Given the description of an element on the screen output the (x, y) to click on. 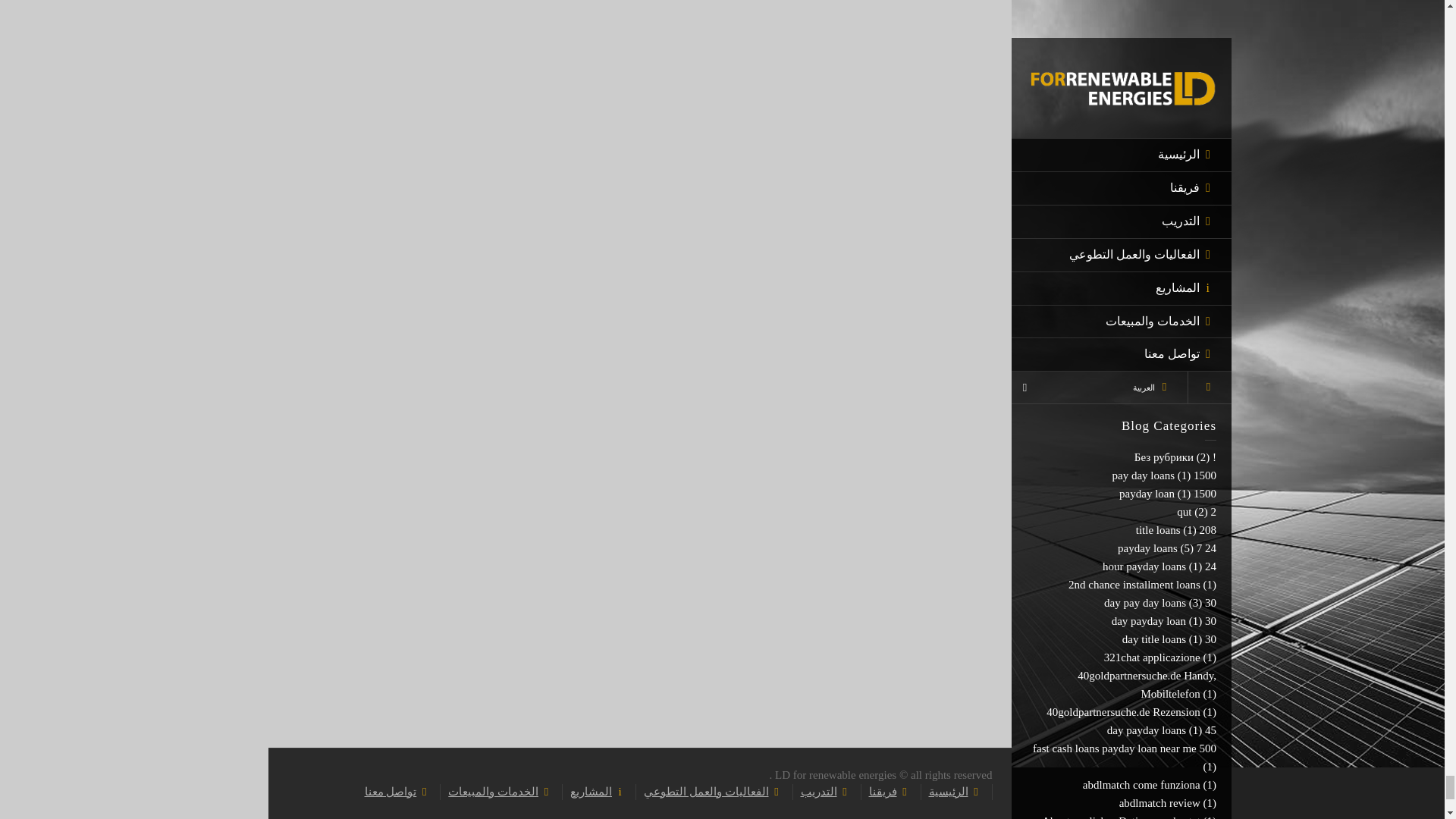
Today get Your Payday Cash or Title Cash Loan! (1131, 94)
